Given the description of an element on the screen output the (x, y) to click on. 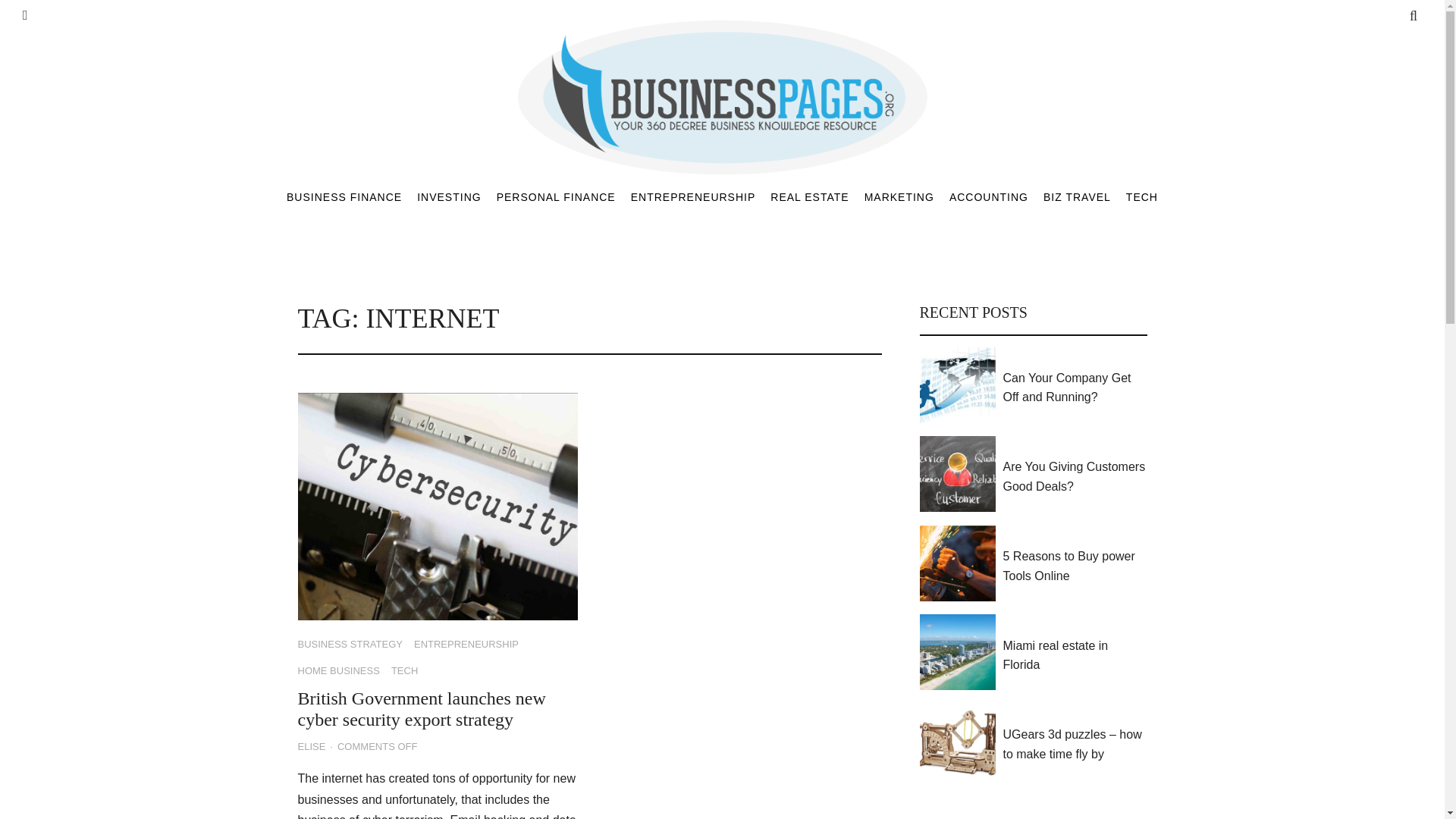
TECH (1141, 196)
INVESTING (448, 196)
HOME BUSINESS (337, 671)
BUSINESS FINANCE (343, 196)
BIZ TRAVEL (1076, 196)
TECH (404, 671)
Posts by Elise (310, 747)
facebook (25, 15)
MARKETING (899, 196)
Are You Giving Customers Good Deals? (1075, 476)
Miami real estate in Florida (1075, 655)
ENTREPRENEURSHIP (692, 196)
ELISE (310, 747)
BUSINESS STRATEGY (349, 644)
